Given the description of an element on the screen output the (x, y) to click on. 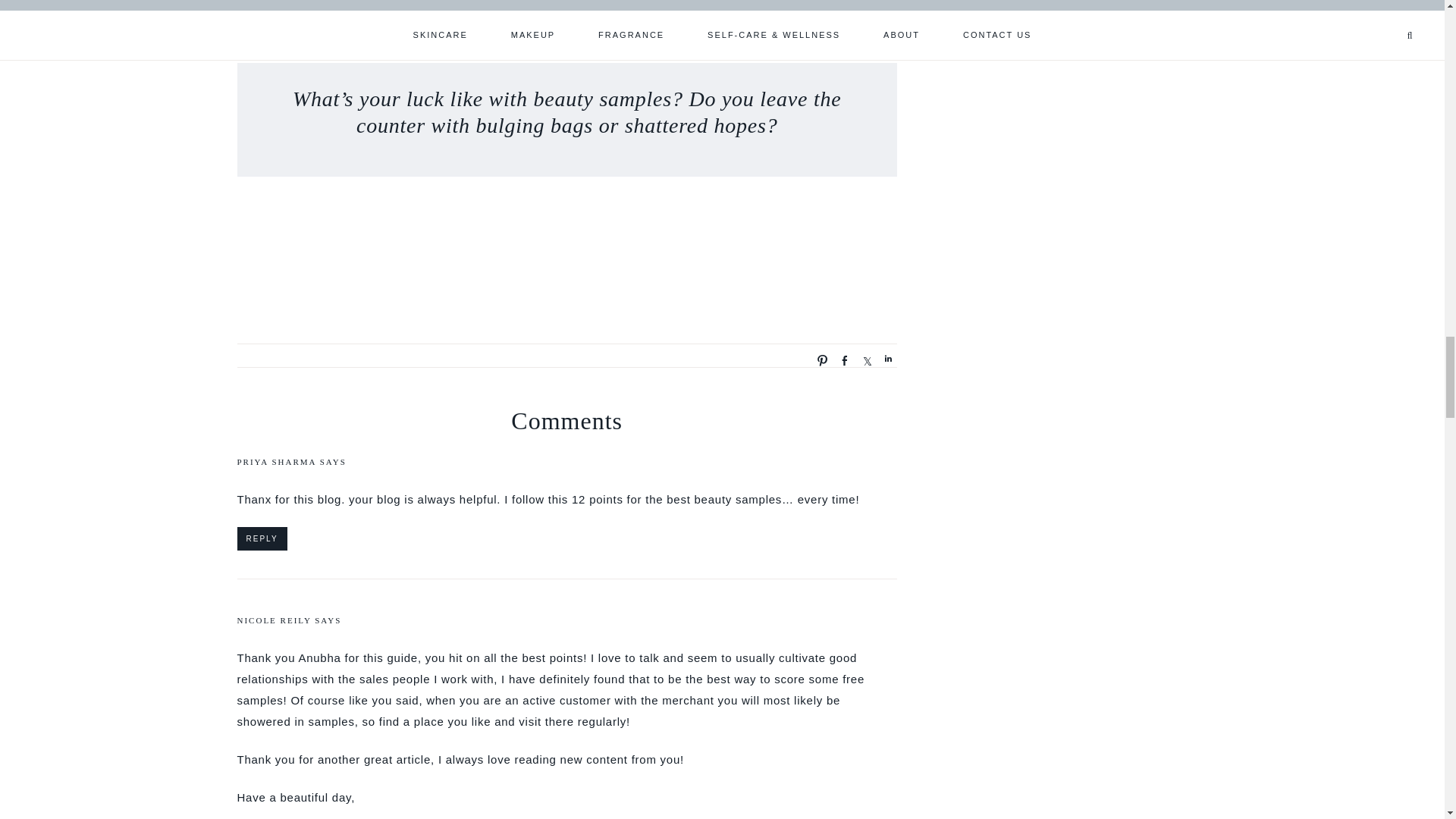
Pin (818, 359)
Share (861, 359)
Share (839, 359)
